Given the description of an element on the screen output the (x, y) to click on. 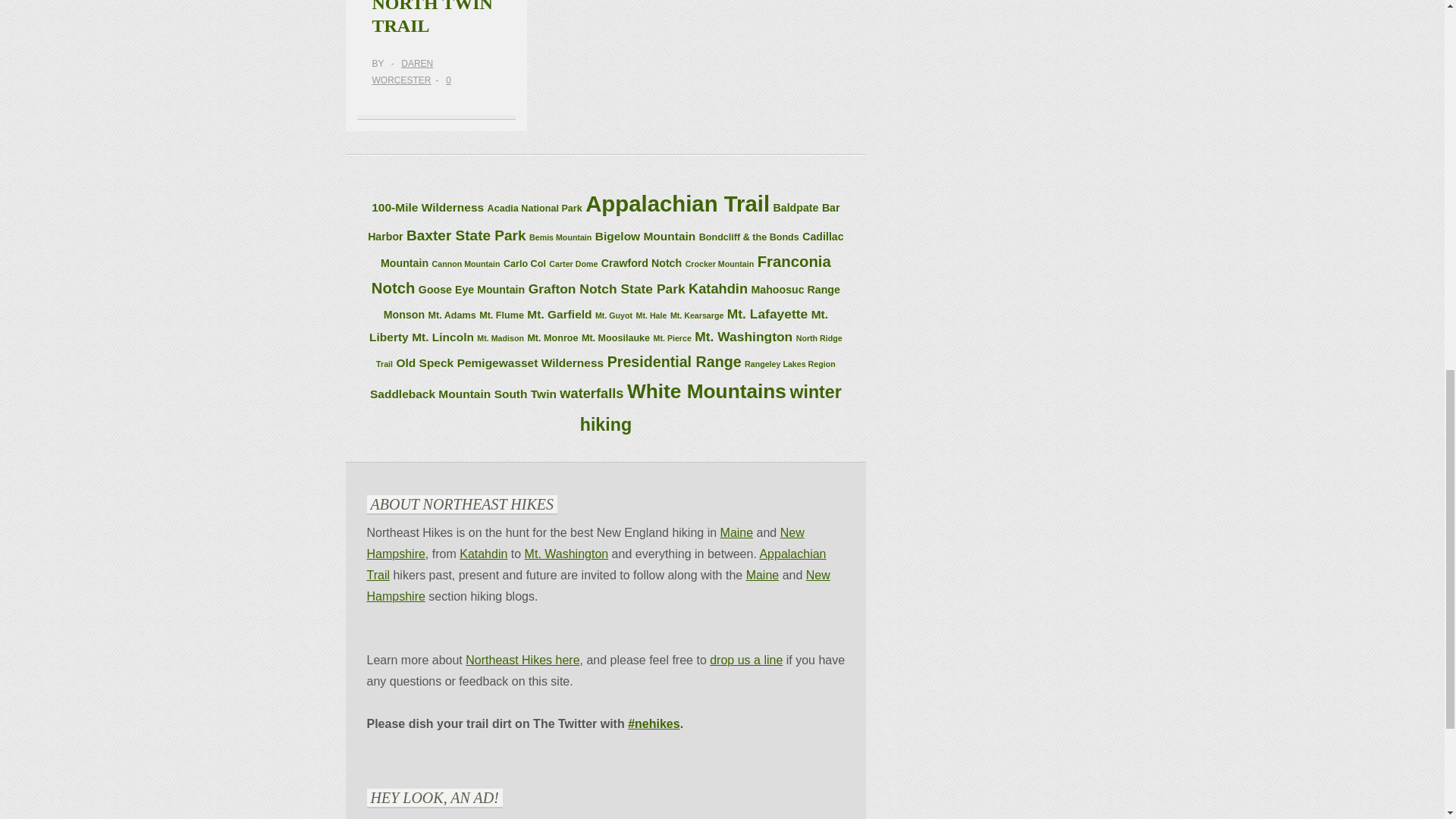
Section Hike Maine Appalachian Trail (596, 564)
Best Maine Hiking Trails (737, 532)
NH Appalachian Trail (597, 585)
Best New Hampshire Hiking Trails (585, 543)
Mt. Washington Hiking Trails (566, 553)
Katahdin Hiking Trails (483, 553)
Daren Worcester (401, 71)
Maine Appalachian Trail (761, 574)
